Given the description of an element on the screen output the (x, y) to click on. 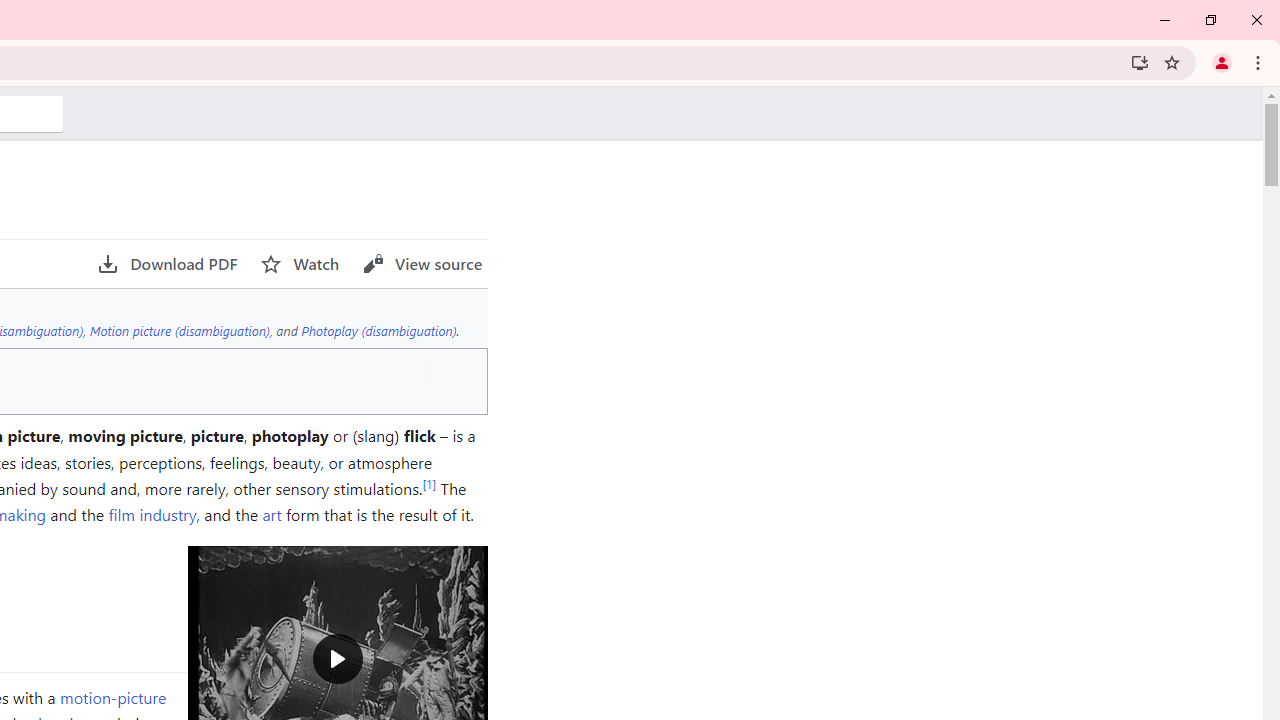
View source (422, 264)
film industry (152, 514)
Install Wikipedia (1139, 62)
